Given the description of an element on the screen output the (x, y) to click on. 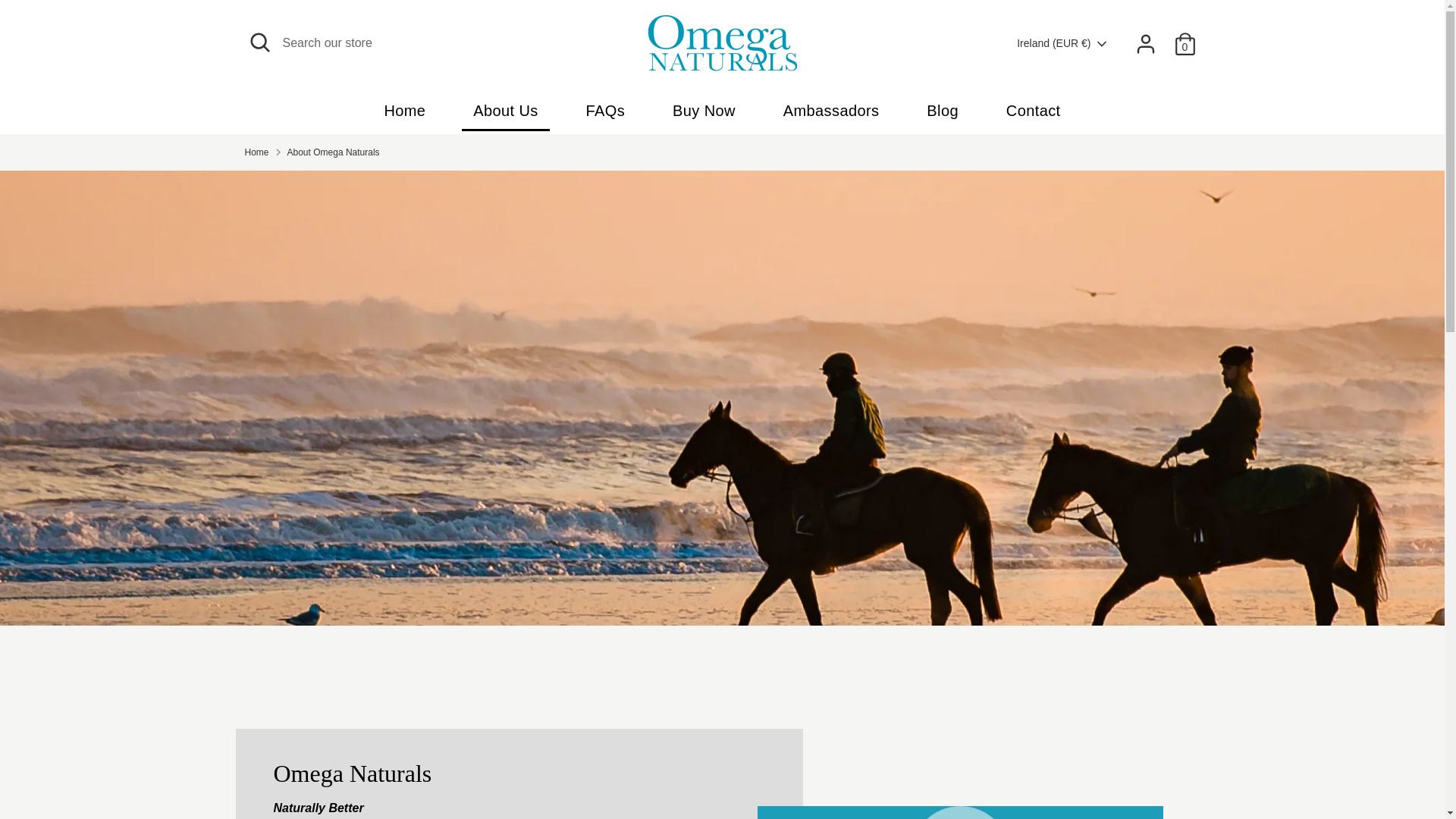
Contact (1032, 115)
Ambassadors (831, 115)
About Us (504, 115)
Blog (942, 115)
Buy Now (703, 115)
0 (1184, 43)
Home (404, 115)
FAQs (606, 115)
